Given the description of an element on the screen output the (x, y) to click on. 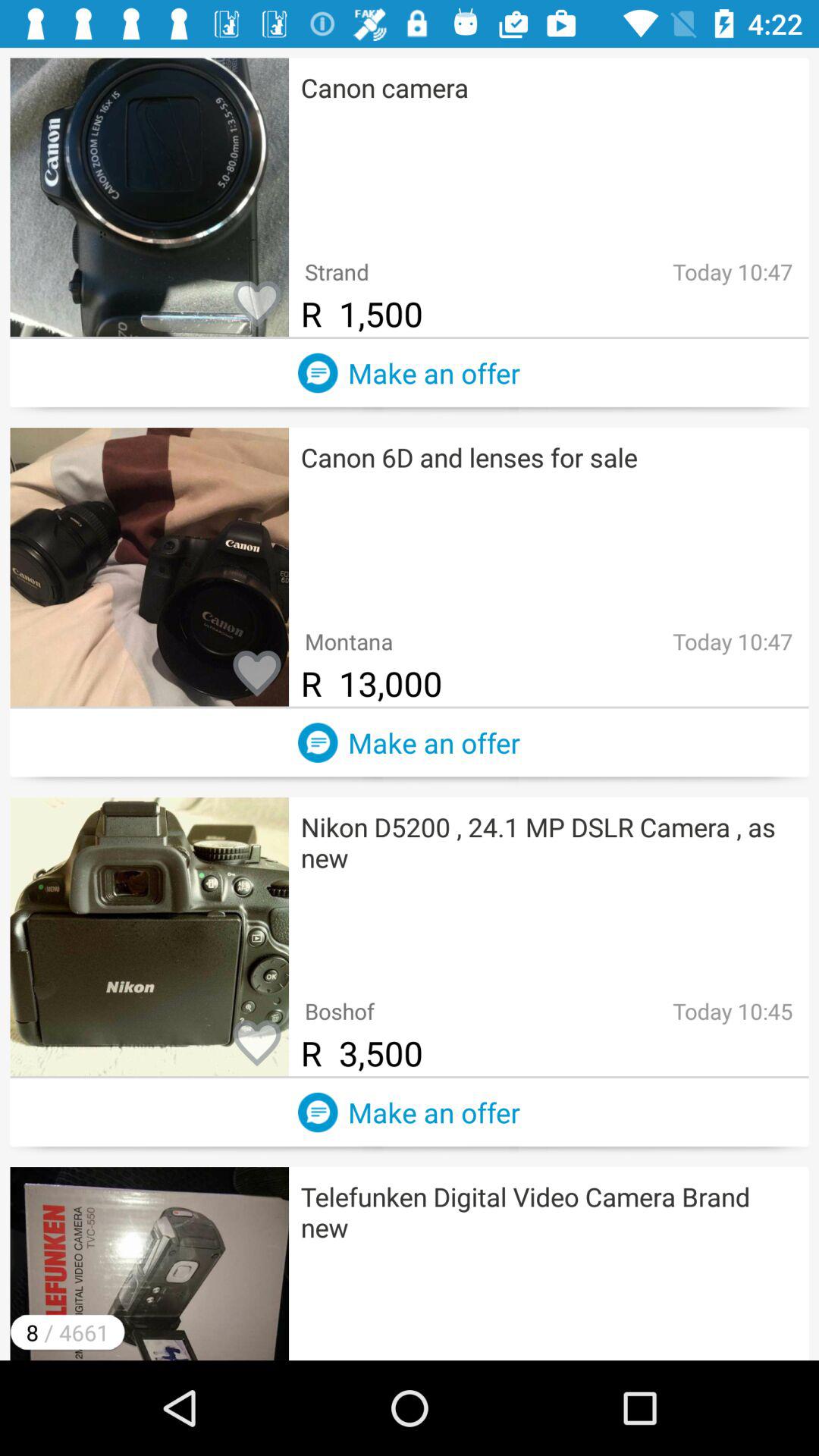
add item to favorites (256, 1044)
